Given the description of an element on the screen output the (x, y) to click on. 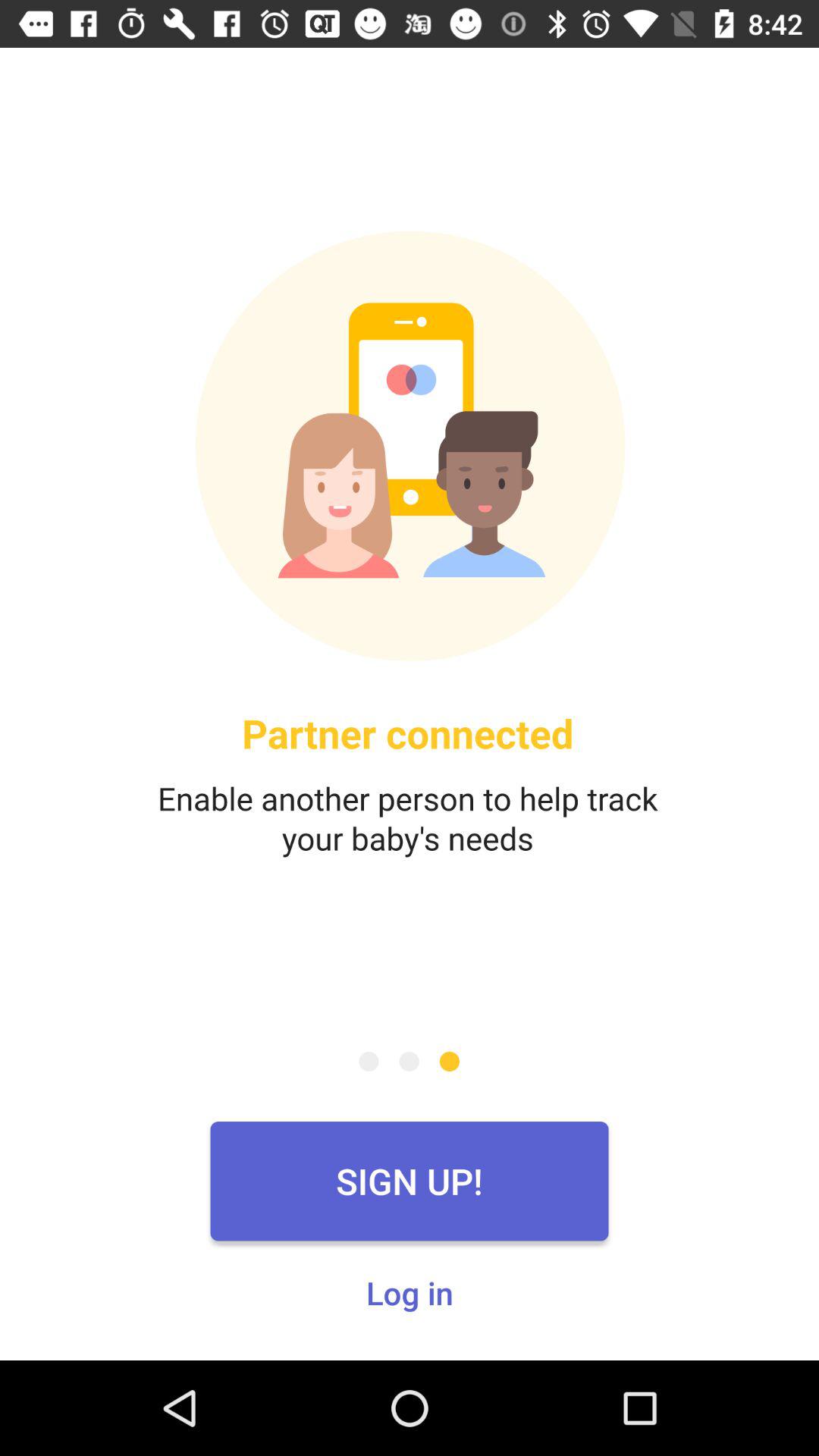
turn on the sign up! icon (409, 1181)
